Given the description of an element on the screen output the (x, y) to click on. 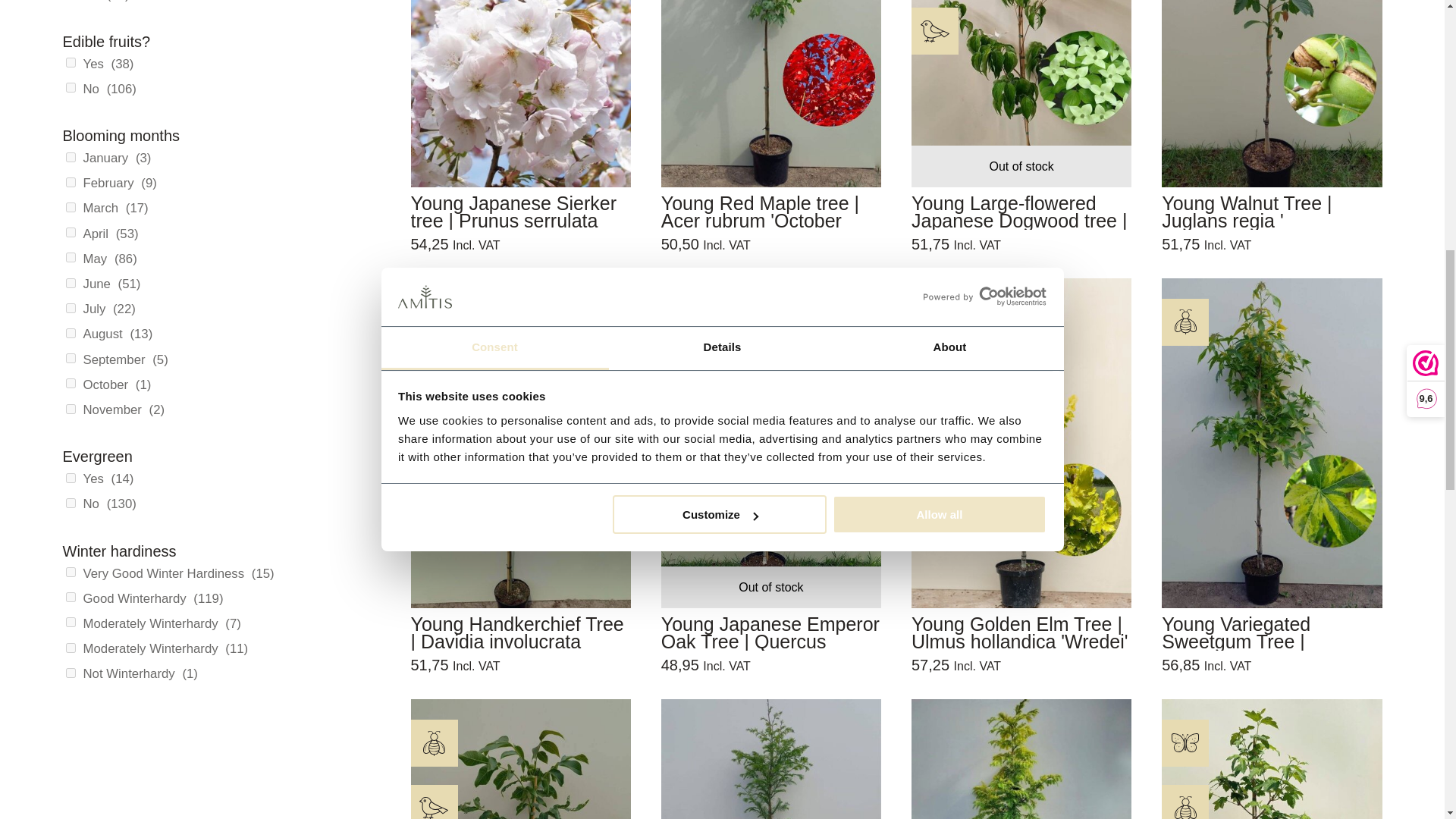
795795 (70, 572)
722904 (70, 333)
722898 (70, 182)
719058 (70, 87)
722906 (70, 383)
722907 (70, 409)
752645 (70, 478)
719057 (70, 62)
722897 (70, 157)
752646 (70, 502)
722899 (70, 207)
722902 (70, 283)
722901 (70, 257)
722905 (70, 357)
722900 (70, 232)
